Given the description of an element on the screen output the (x, y) to click on. 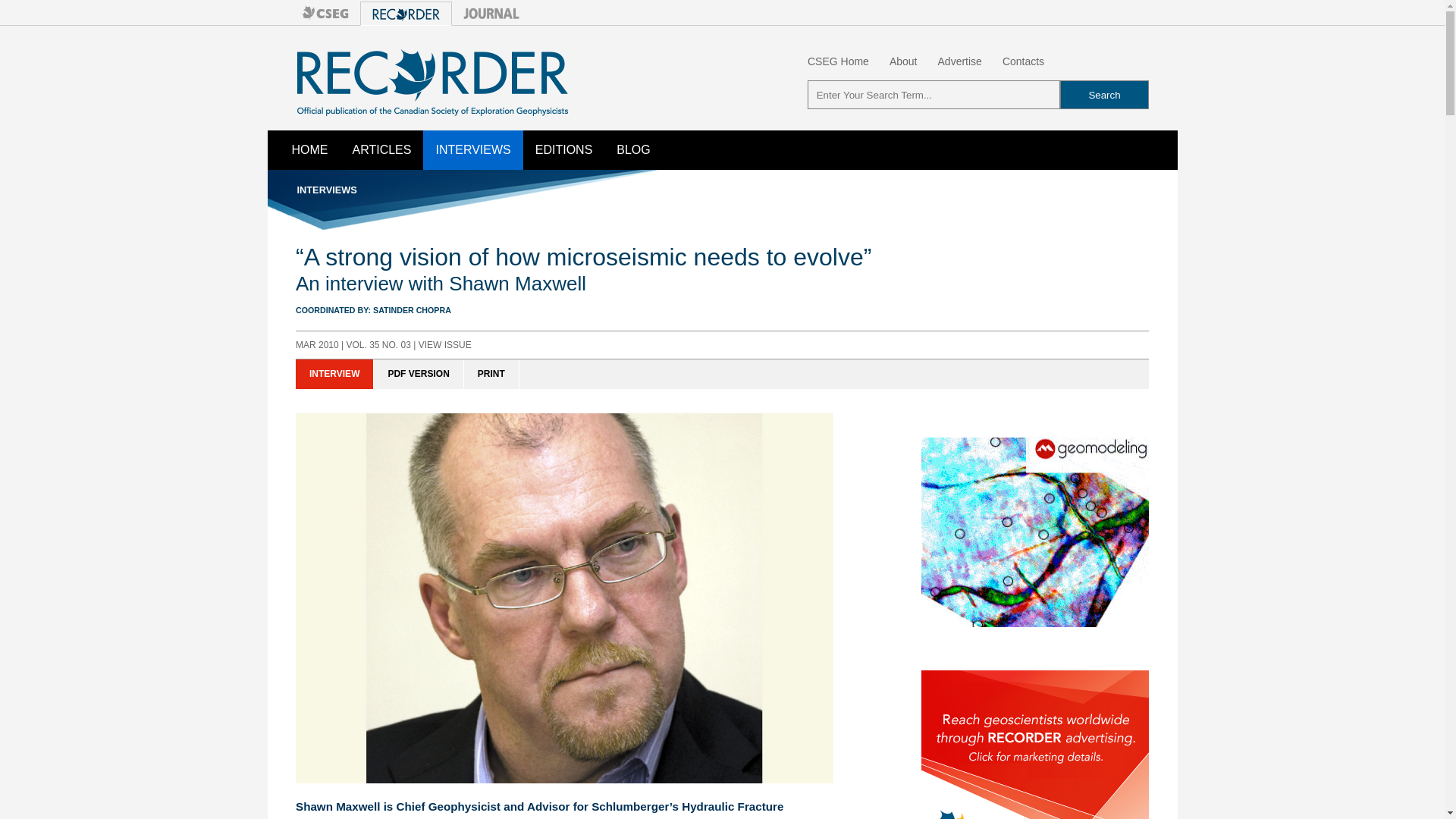
BLOG (633, 149)
PRINT (491, 374)
INTERVIEWS (472, 149)
INTERVIEW (334, 374)
Contacts (1023, 61)
EDITIONS (563, 149)
Search (1103, 94)
PDF VERSION (418, 374)
Advertise (959, 61)
ARTICLES (381, 149)
CSEG Home (838, 61)
Search (1103, 94)
About (903, 61)
HOME (309, 149)
